Given the description of an element on the screen output the (x, y) to click on. 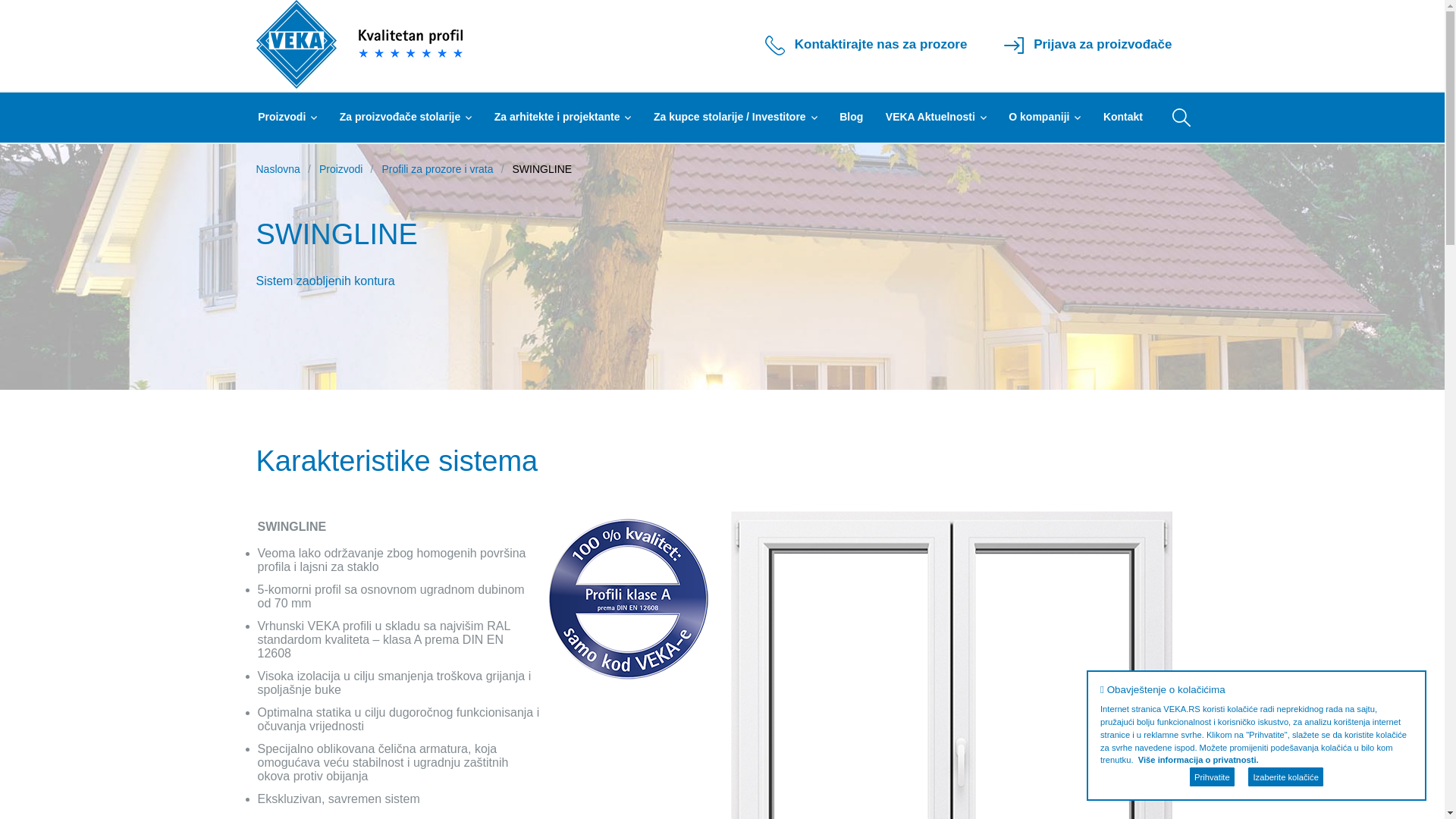
Blog Element type: text (851, 118)
Kontakt Element type: text (1122, 118)
Proizvodi Element type: text (341, 169)
VEKA Aktuelnosti Element type: text (935, 118)
Prihvatite Element type: text (1212, 776)
Profili za prozore i vrata Element type: text (436, 169)
O kompaniji Element type: text (1044, 118)
SWINGLINE Element type: text (542, 169)
Za kupce stolarije / Investitore Element type: text (735, 118)
Proizvodi Element type: text (291, 118)
Naslovna Element type: text (278, 169)
Kontaktirajte nas za prozore Element type: text (865, 45)
Za arhitekte i projektante Element type: text (562, 118)
